Given the description of an element on the screen output the (x, y) to click on. 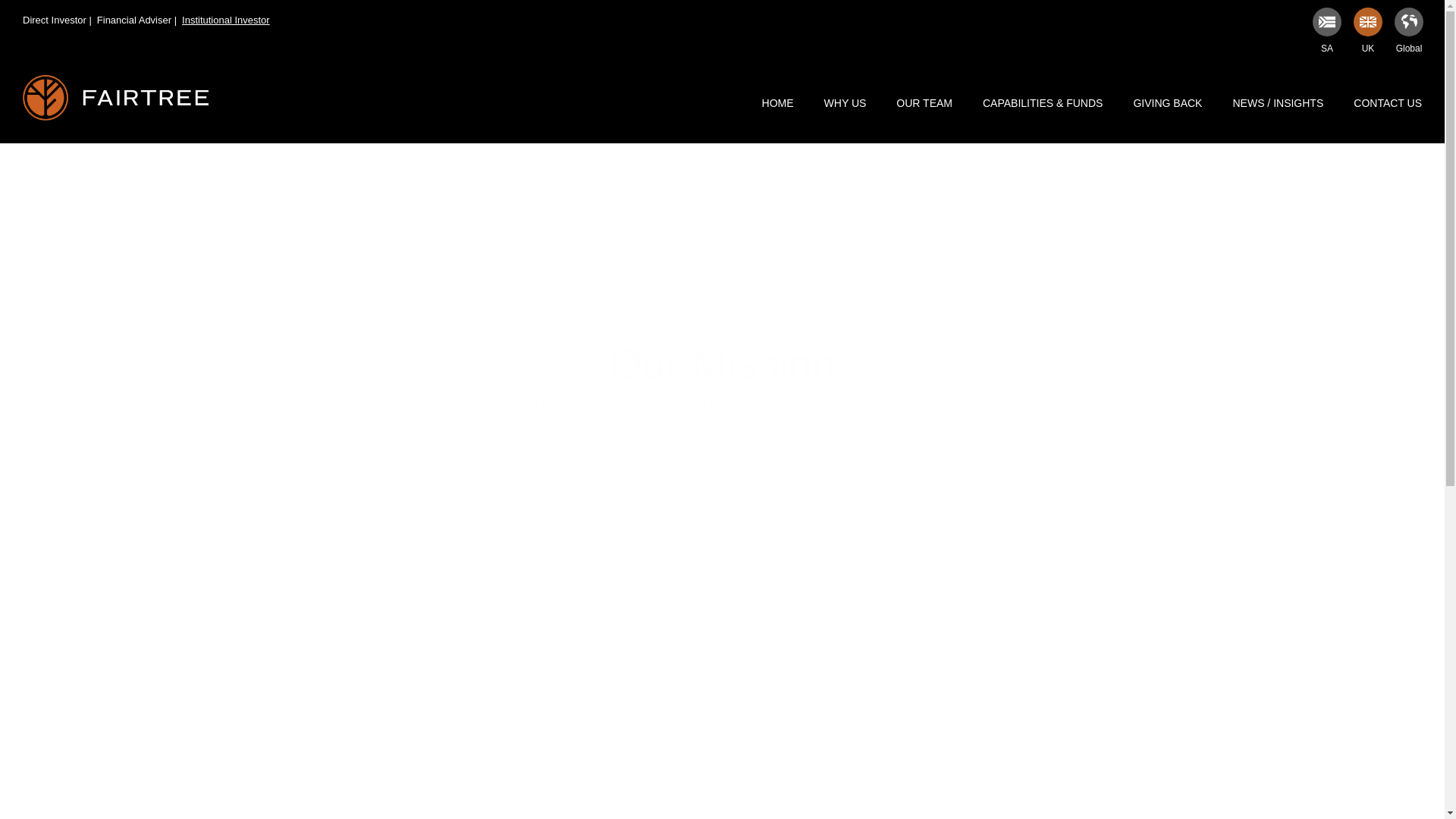
WHY US (845, 102)
CONTACT US (1387, 102)
HOME (777, 102)
Global (1409, 47)
OUR TEAM (924, 102)
GIVING BACK (1167, 102)
Institutional Investor (226, 19)
